Given the description of an element on the screen output the (x, y) to click on. 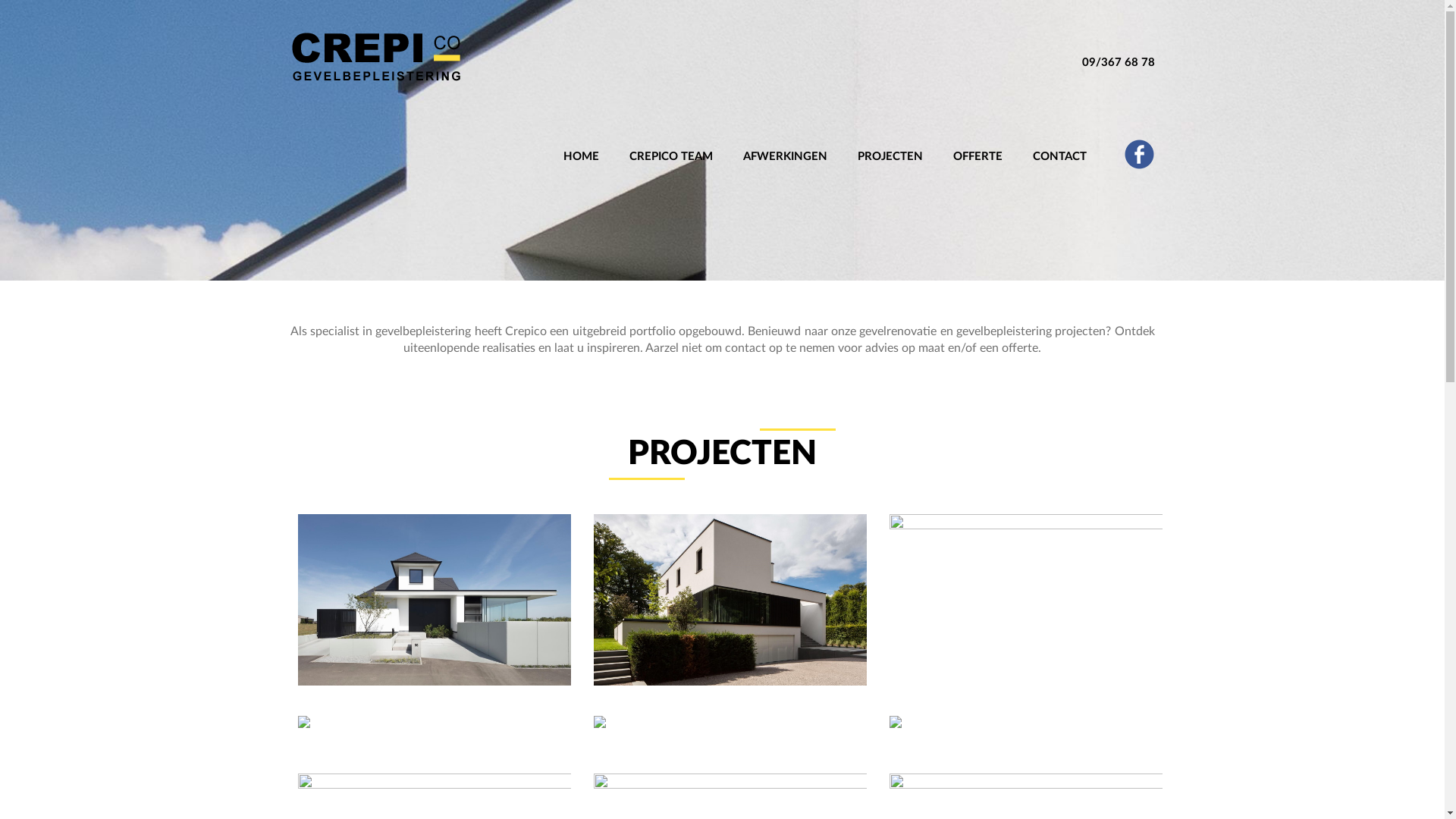
AFWERKINGEN Element type: text (785, 141)
PROJECTEN Element type: text (889, 141)
CREPICO TEAM Element type: text (671, 141)
OFFERTE Element type: text (976, 141)
HOME Element type: text (580, 141)
CONTACT Element type: text (1059, 141)
FB Element type: text (1138, 154)
